Given the description of an element on the screen output the (x, y) to click on. 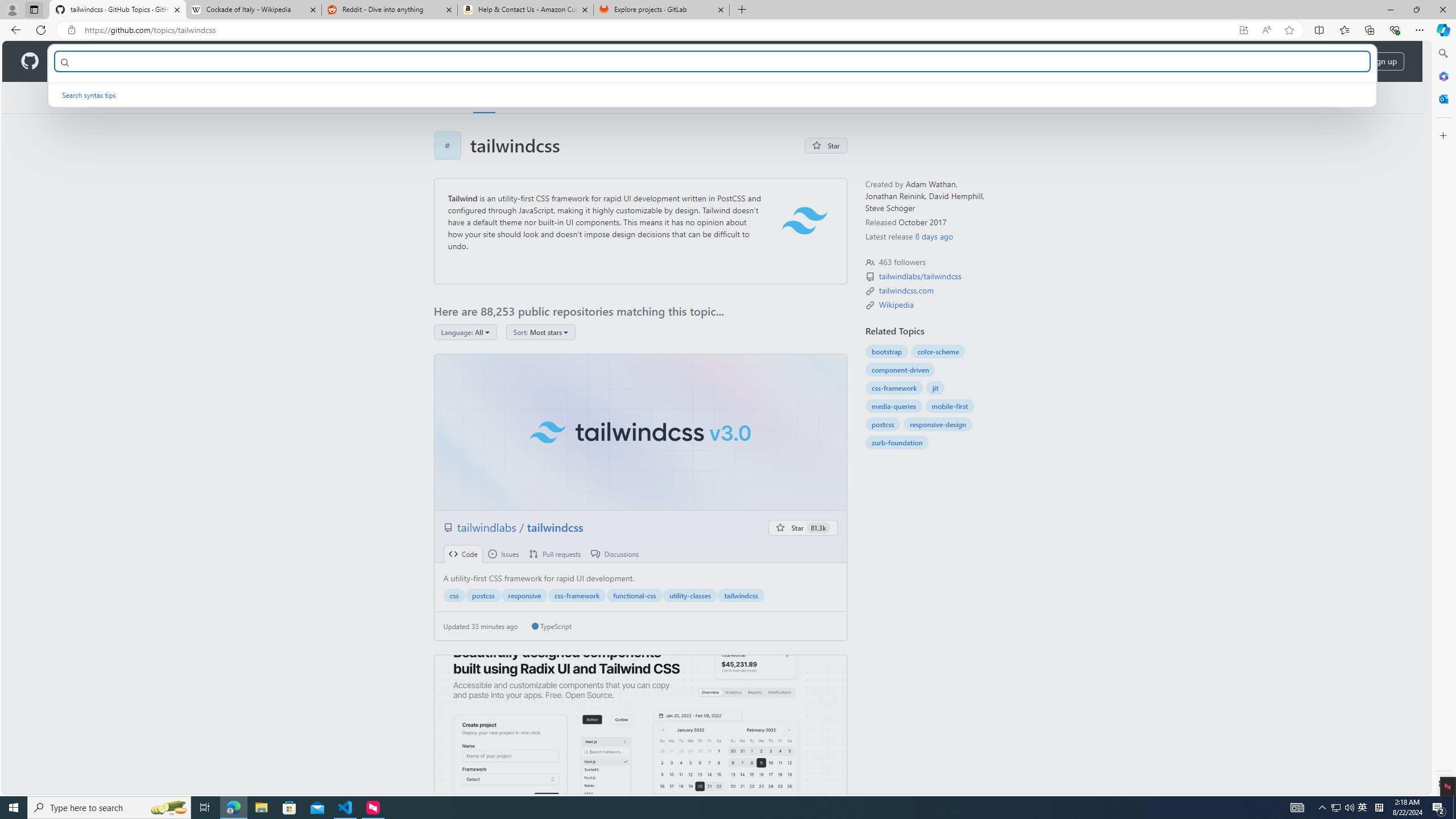
Resources (187, 60)
Open Source (254, 60)
 Code (462, 553)
Cockade of Italy - Wikipedia (253, 9)
Enterprise (319, 60)
css (453, 594)
App available. Install GitHub (1243, 29)
